Given the description of an element on the screen output the (x, y) to click on. 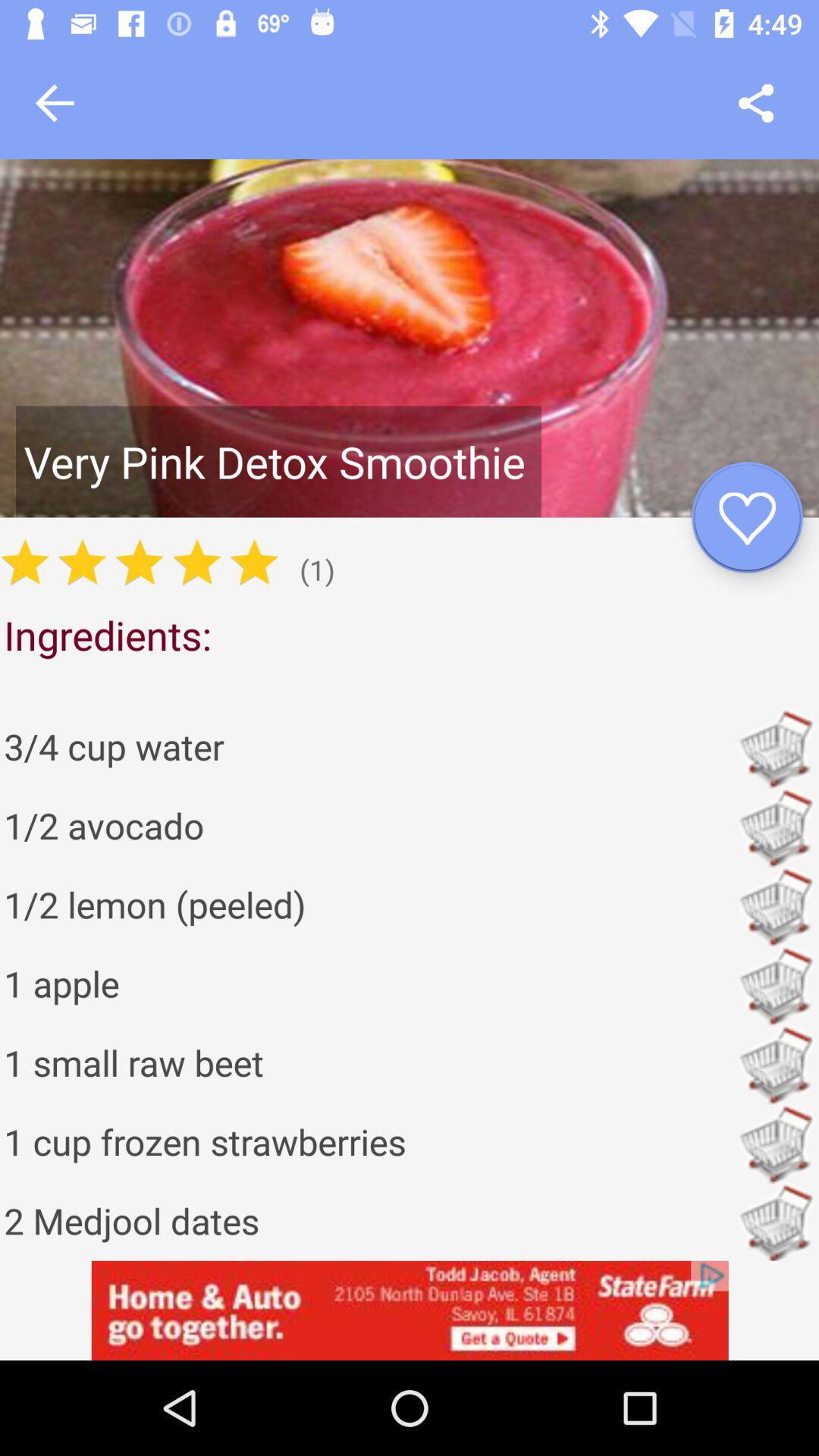
open advertisements (409, 1310)
